Given the description of an element on the screen output the (x, y) to click on. 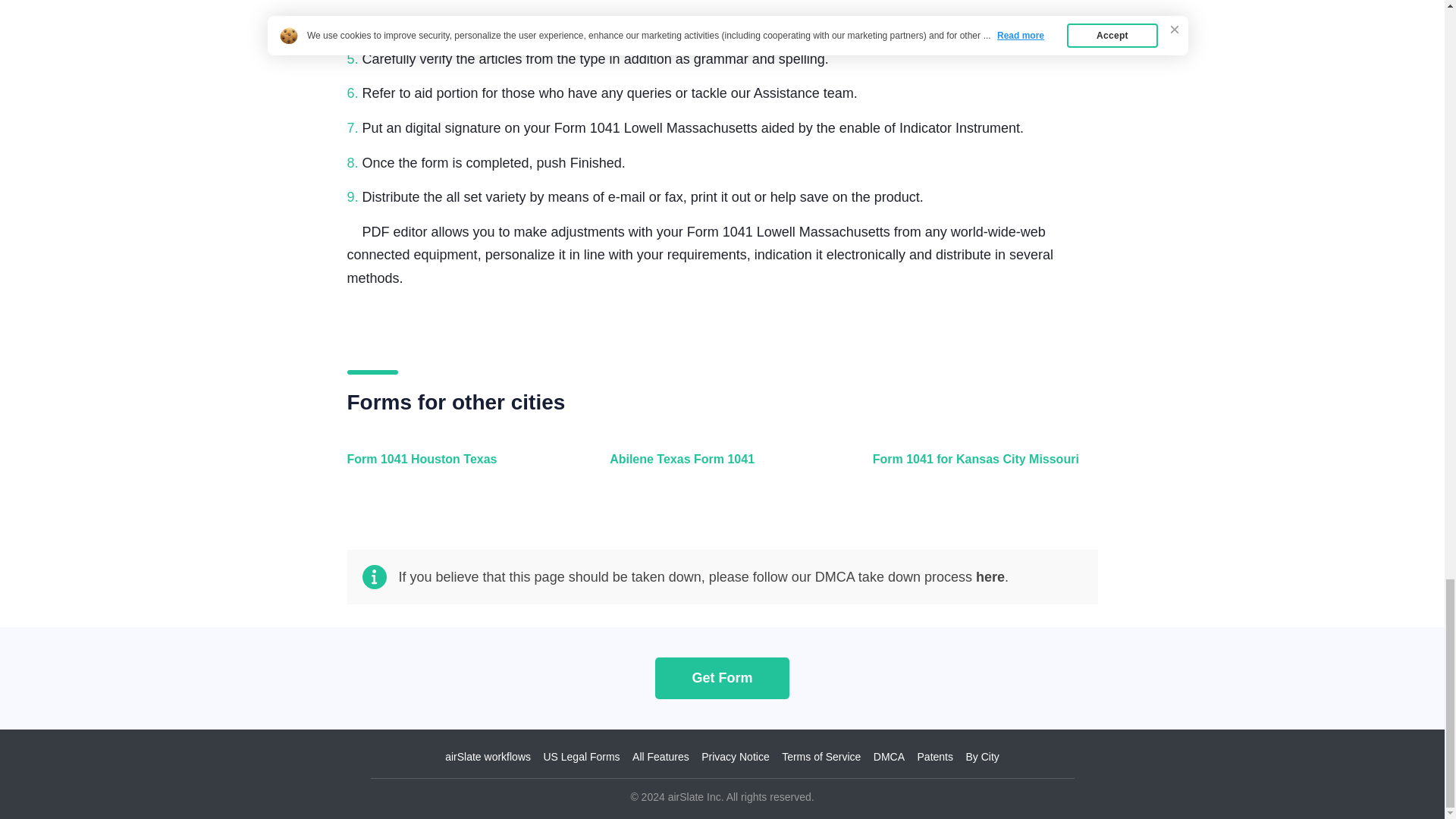
Privacy Notice (734, 756)
By City (981, 756)
airSlate workflows (488, 756)
Form 1041 Houston Texas (456, 467)
Form 1041 for Kansas City Missouri (981, 467)
here (989, 576)
Terms of Service (820, 756)
DMCA (888, 756)
Get Form (722, 677)
Abilene Texas Form 1041 (718, 467)
